Given the description of an element on the screen output the (x, y) to click on. 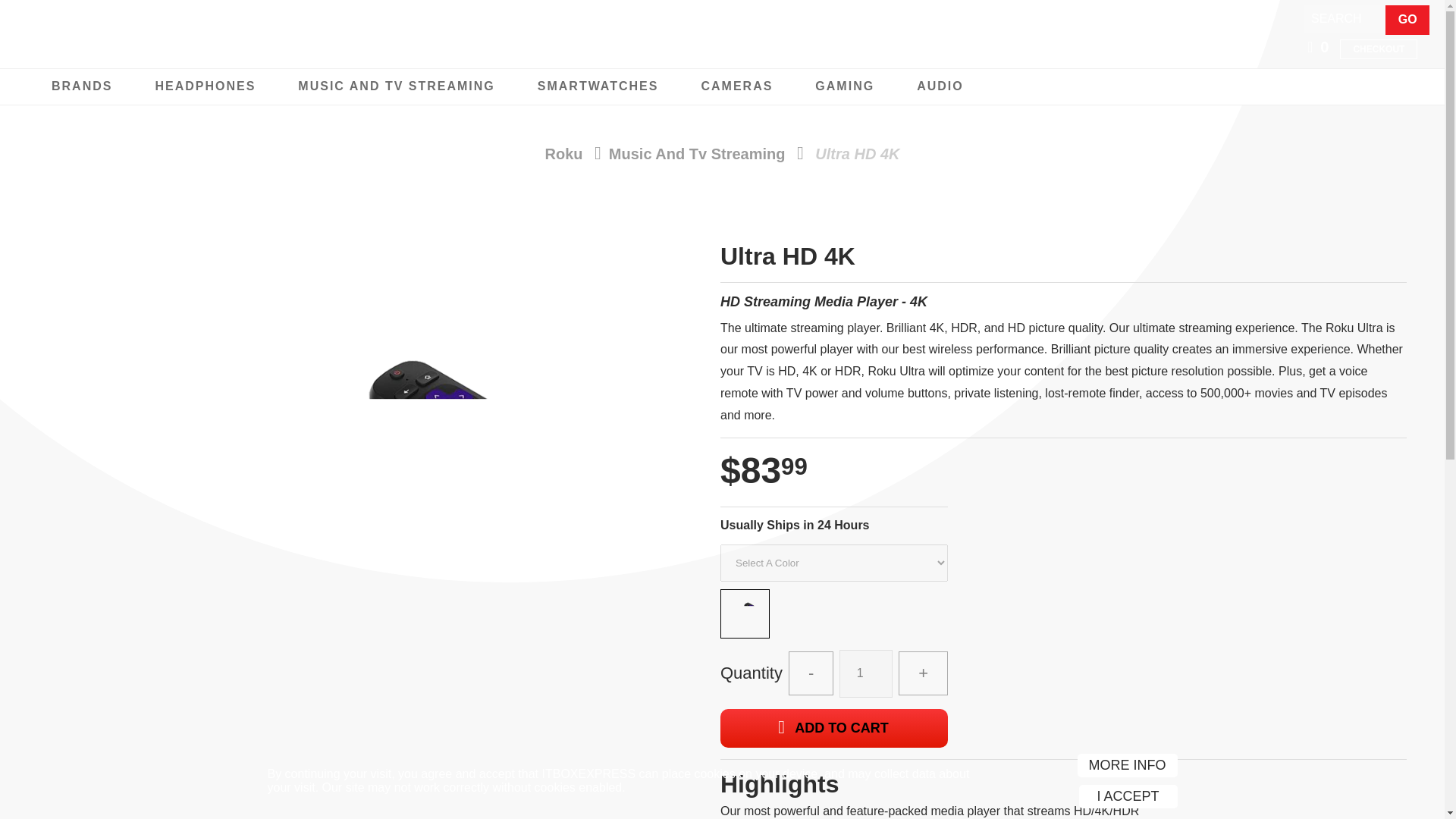
I Accept (1127, 796)
GO (1407, 19)
0CHECKOUT (1370, 46)
GO (1407, 19)
ADD TO CART (833, 728)
1 (866, 673)
